Given the description of an element on the screen output the (x, y) to click on. 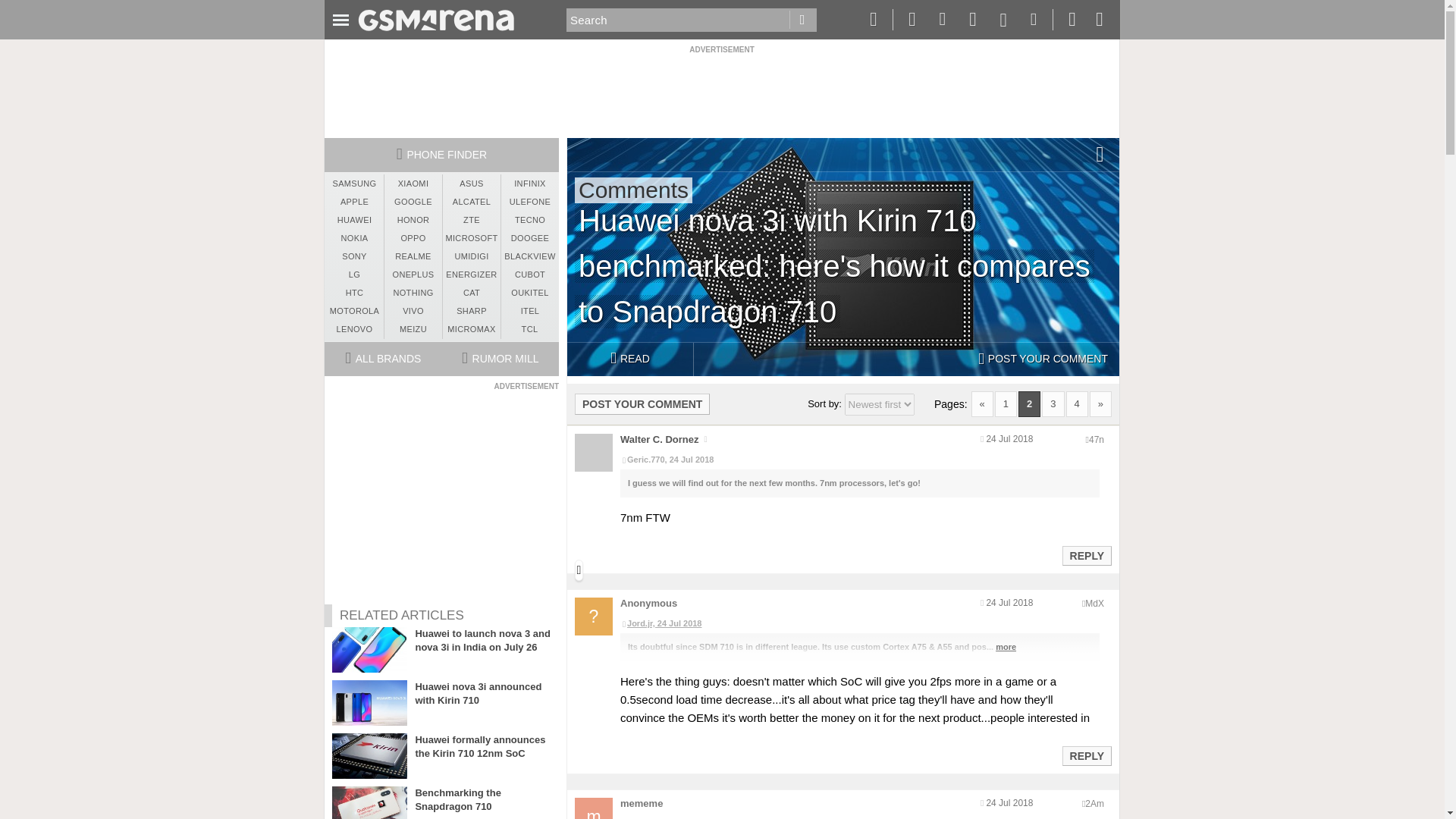
POST YOUR COMMENT (642, 403)
Go (802, 19)
Encoded anonymized location (1093, 803)
Encoded anonymized location (1096, 439)
Reply to this post (1086, 555)
Encoded anonymized location (1093, 603)
Go (802, 19)
Walter C. Dornez (659, 439)
POST YOUR COMMENT (1042, 359)
Reply to this post (1086, 756)
